Given the description of an element on the screen output the (x, y) to click on. 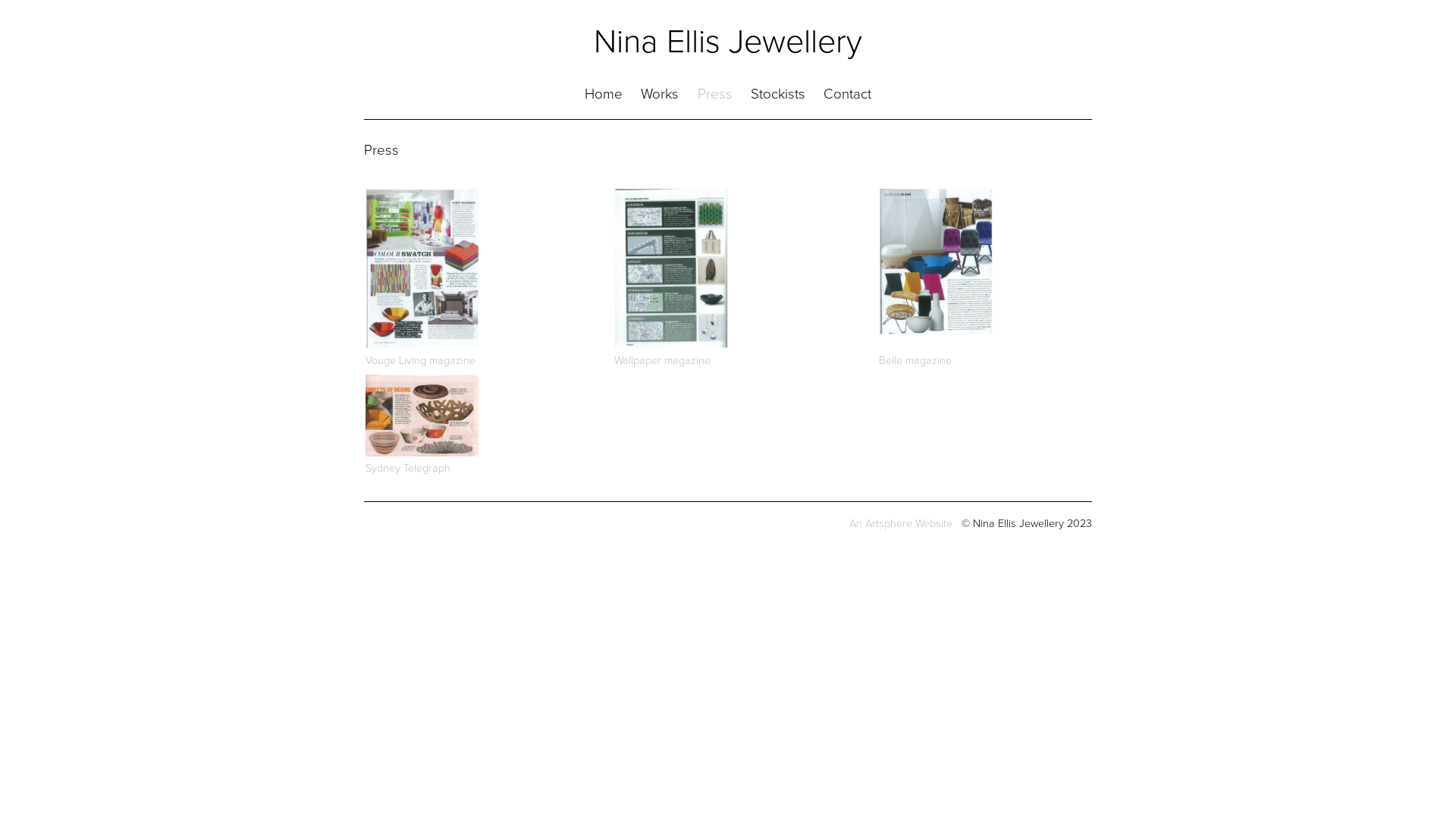
Sydney Telegraph Element type: text (407, 467)
Stockists Element type: text (777, 93)
Home Element type: text (603, 93)
Works Element type: text (659, 93)
Contact Element type: text (847, 93)
Wallpaper magazine Element type: text (662, 360)
An Artsphere Website Element type: text (900, 523)
Belle magazine Element type: text (914, 360)
Vouge Living magazine Element type: text (420, 360)
Press Element type: text (714, 93)
